Given the description of an element on the screen output the (x, y) to click on. 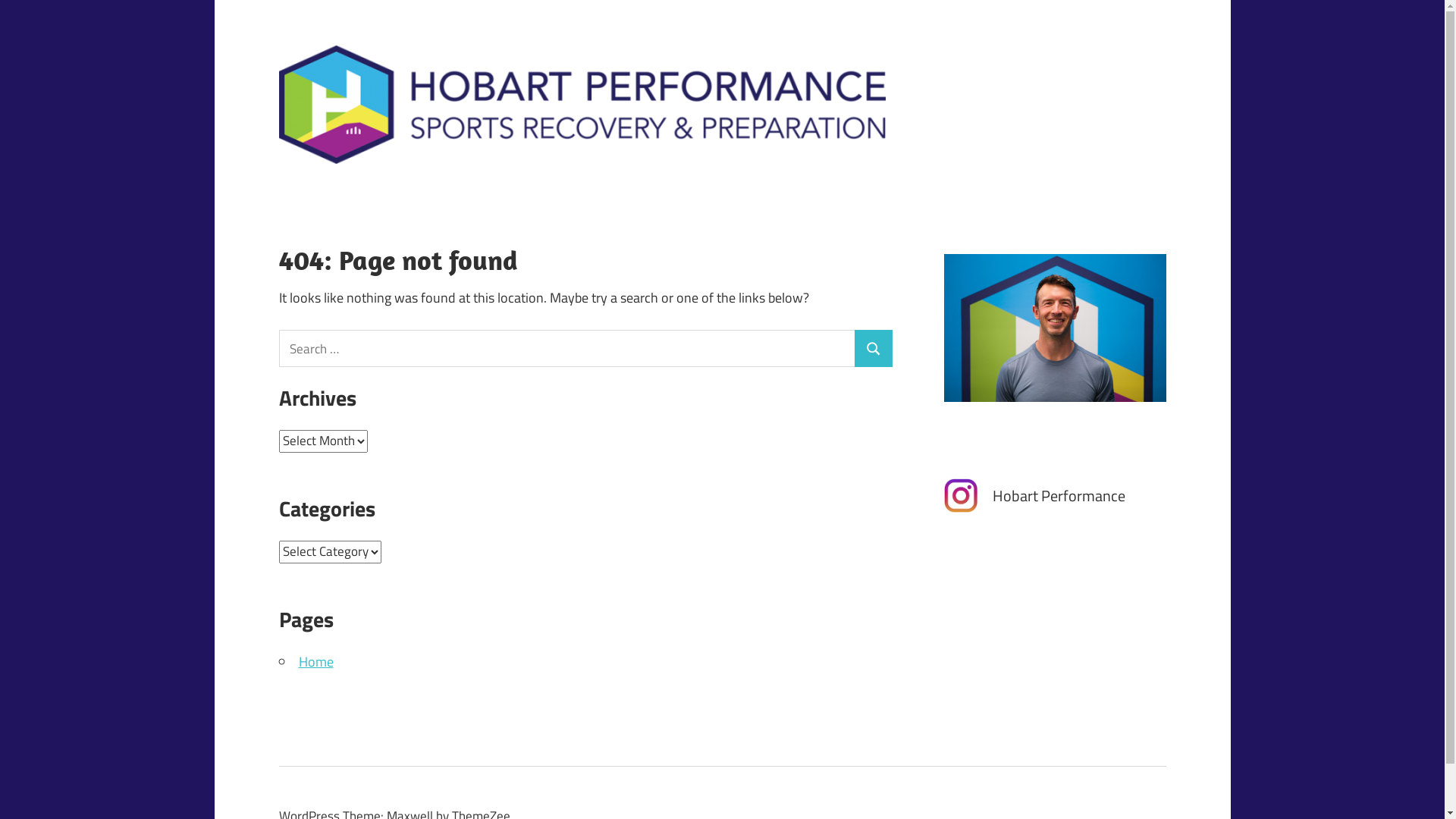
Search for: Element type: hover (567, 348)
Home Element type: text (315, 661)
Search Element type: text (873, 348)
